Given the description of an element on the screen output the (x, y) to click on. 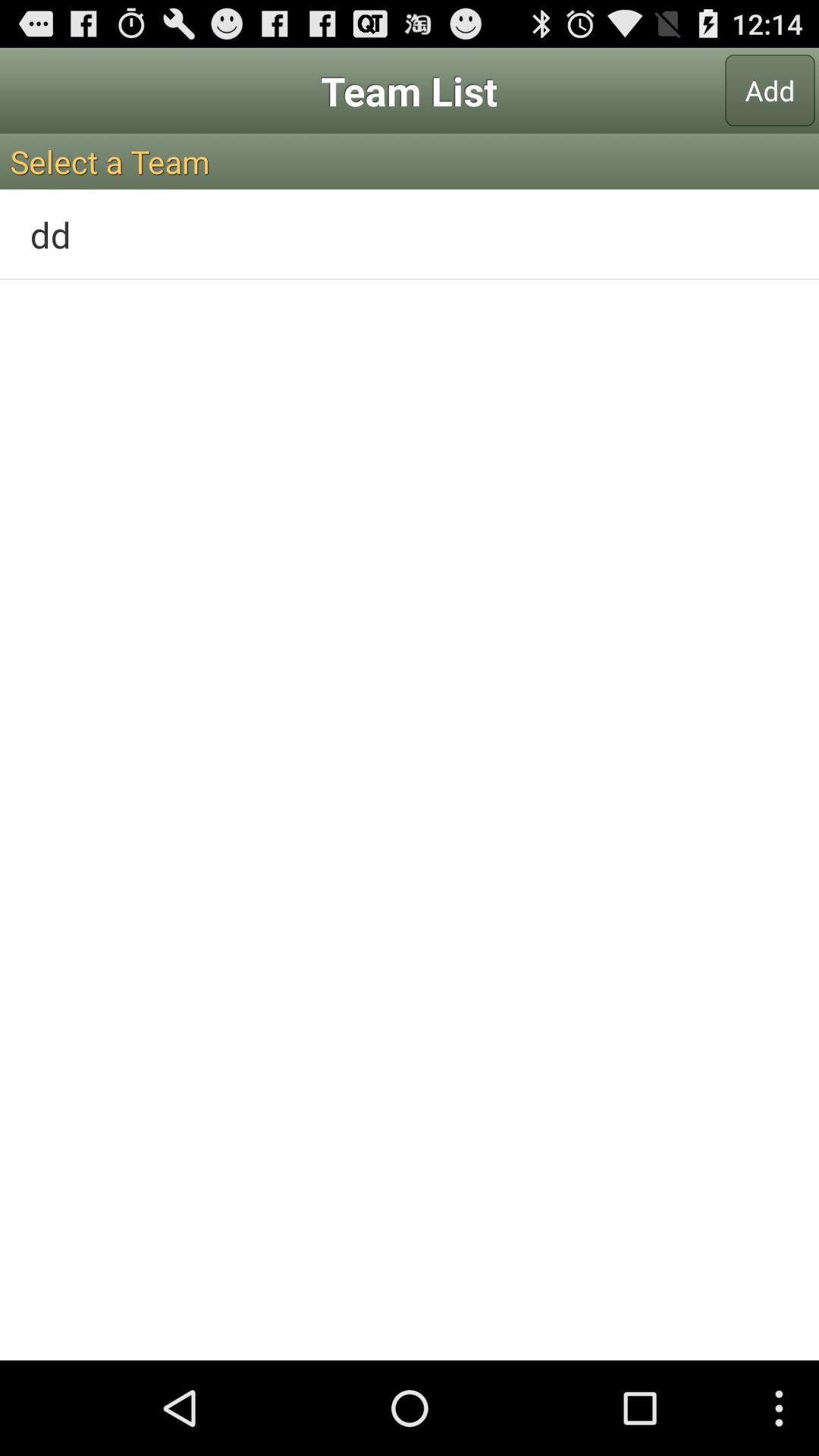
flip until the select a team item (409, 161)
